Given the description of an element on the screen output the (x, y) to click on. 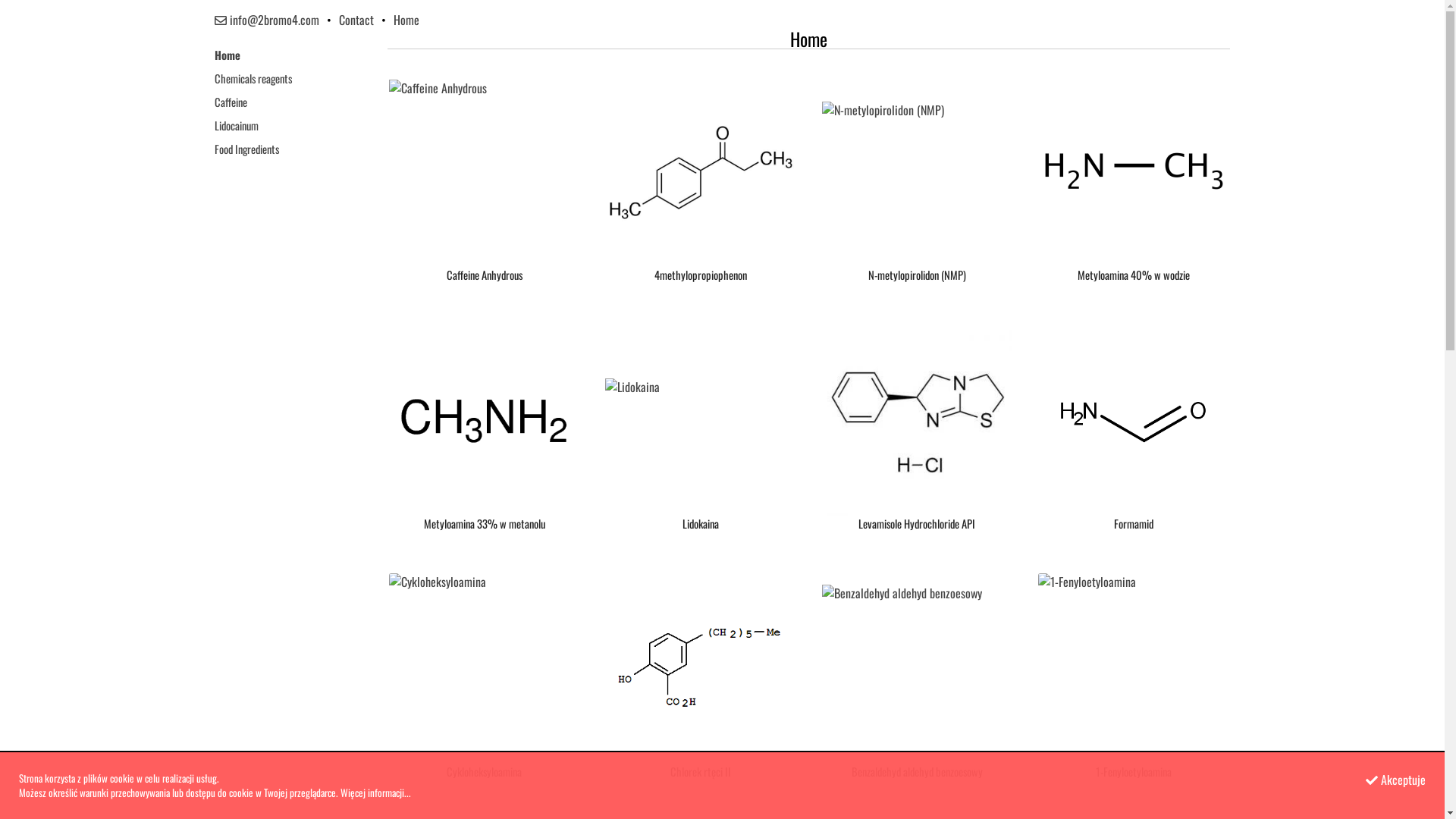
Lidocainum Element type: text (235, 125)
Food Ingredients Element type: text (245, 148)
Metyloamina 33% w metanolu Element type: text (483, 441)
Akceptuje Element type: text (1395, 779)
Formamid Element type: text (1133, 441)
Cykloheksyloamina Element type: text (483, 689)
Benzaldehyd aldehyd benzoesowy Element type: text (916, 689)
1-Fenyloetyloamina Element type: text (1133, 689)
Caffeine Element type: text (229, 101)
Chemicals reagents Element type: text (252, 78)
Home Element type: text (405, 20)
N-metylopirolidon (NMP) Element type: text (916, 193)
Levamisole Hydrochloride API Element type: text (916, 441)
Metyloamina 40% w wodzie Element type: text (1133, 193)
info@2bromo4.com Element type: text (265, 20)
Lidokaina Element type: text (700, 441)
Caffeine Anhydrous Element type: text (483, 193)
4methylopropiophenon Element type: text (700, 193)
Contact Element type: text (355, 20)
Home Element type: text (226, 54)
